Given the description of an element on the screen output the (x, y) to click on. 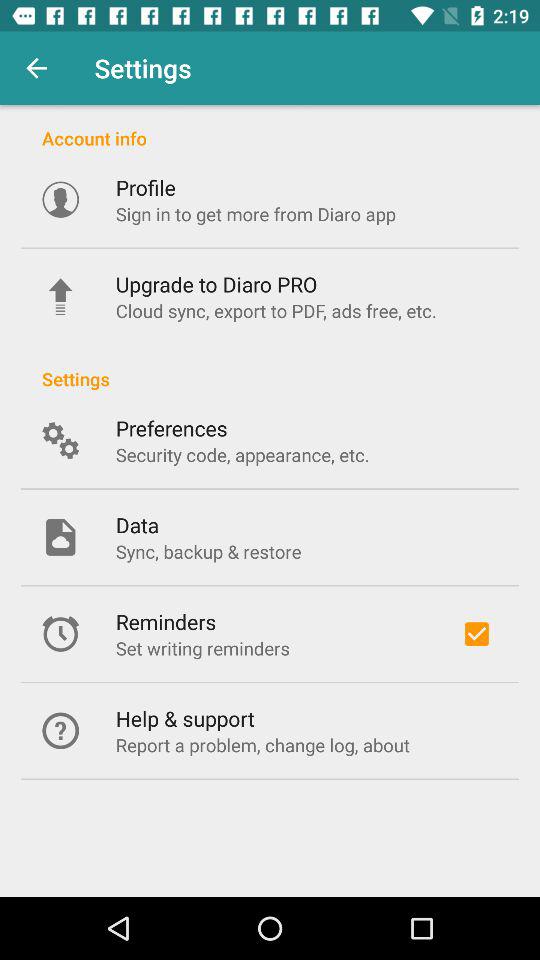
select profile icon (145, 187)
